Given the description of an element on the screen output the (x, y) to click on. 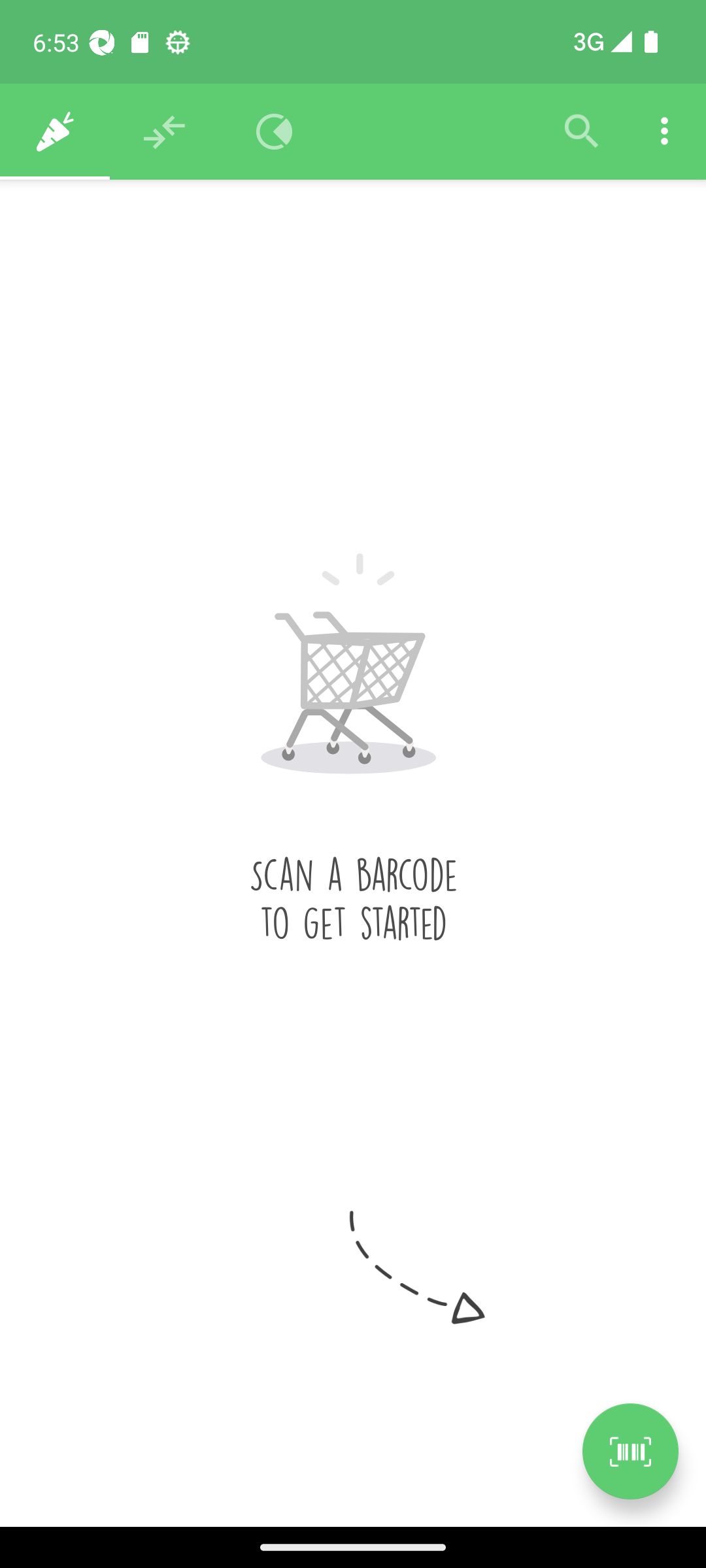
Recommendations (164, 131)
Overview (274, 131)
Filter (581, 131)
Settings (664, 131)
Scan a product (630, 1451)
